Given the description of an element on the screen output the (x, y) to click on. 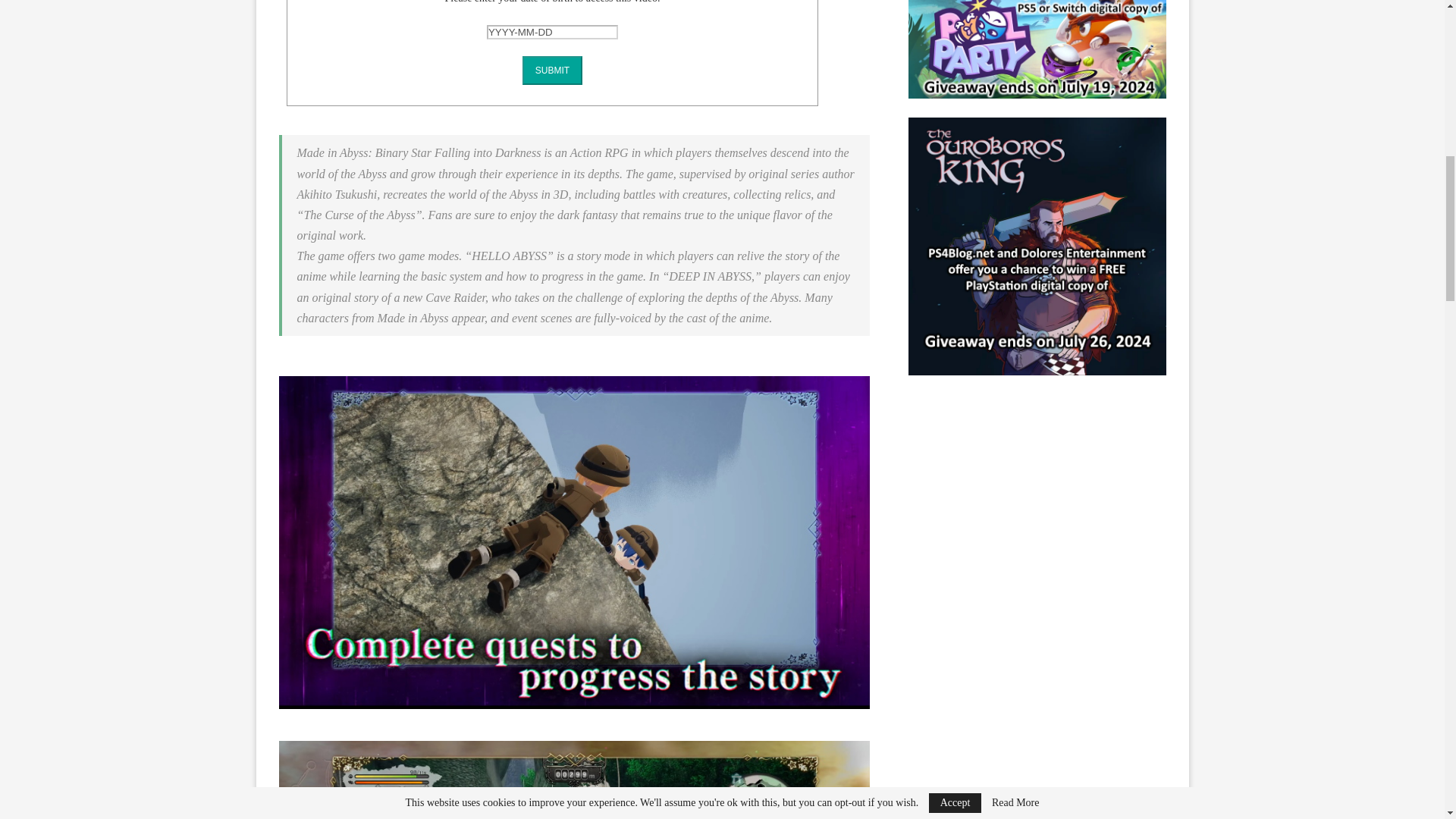
YYYY-MM-DD (551, 32)
Submit (552, 70)
